Given the description of an element on the screen output the (x, y) to click on. 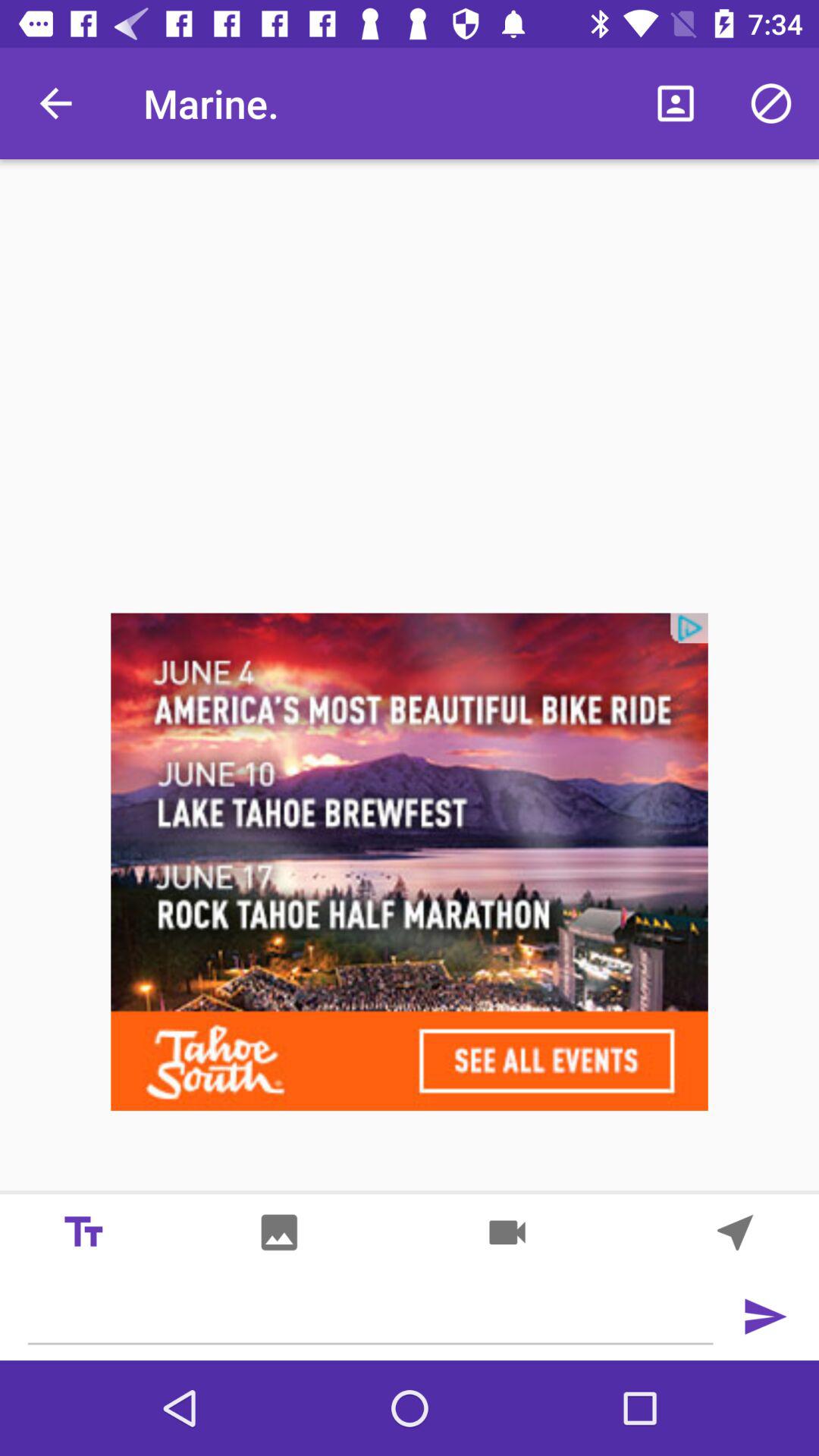
record video (507, 1232)
